Given the description of an element on the screen output the (x, y) to click on. 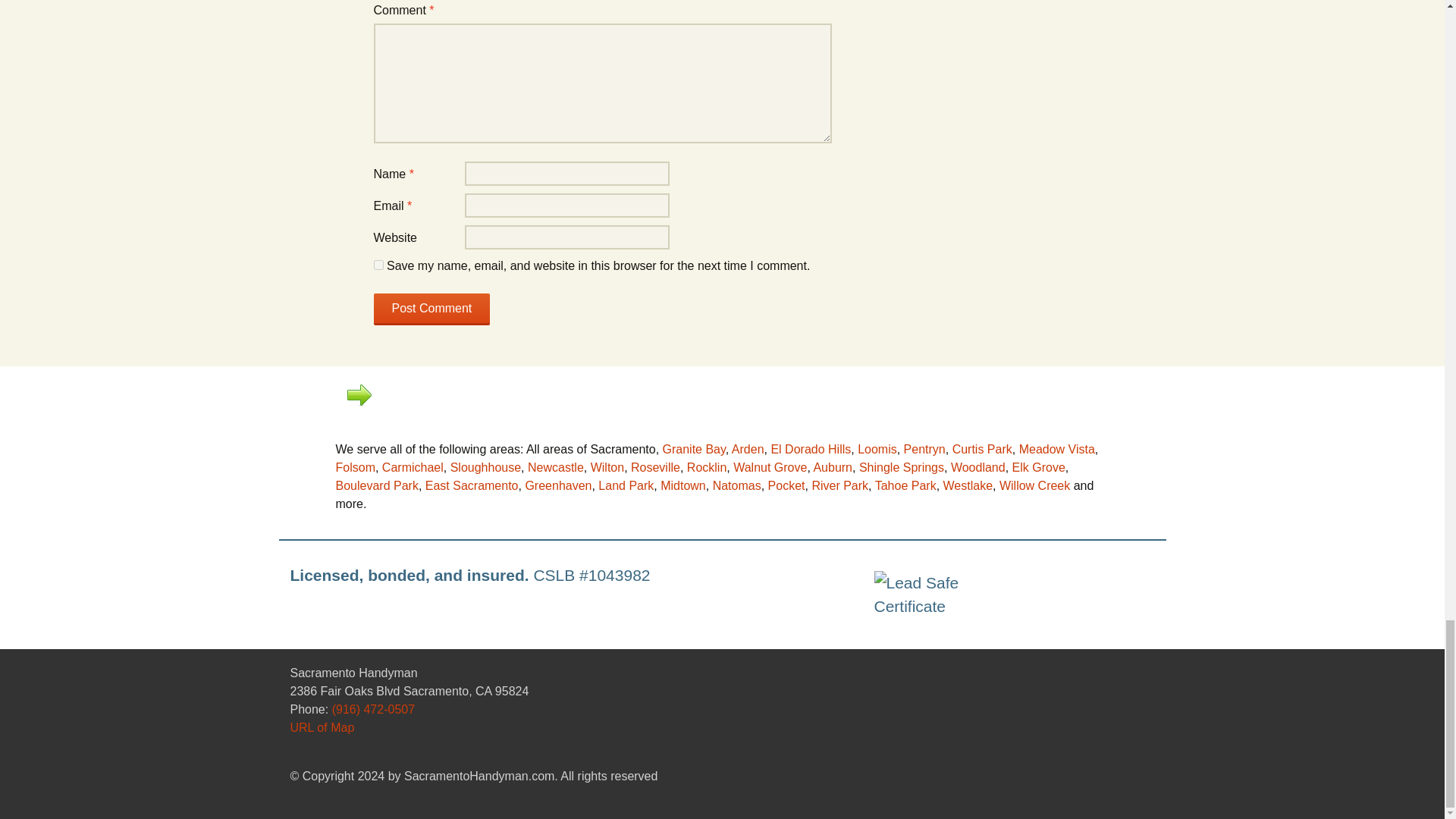
yes (377, 265)
Facebook (1118, 710)
RSS (1093, 710)
Twitter (1144, 710)
Post Comment (430, 309)
